Given the description of an element on the screen output the (x, y) to click on. 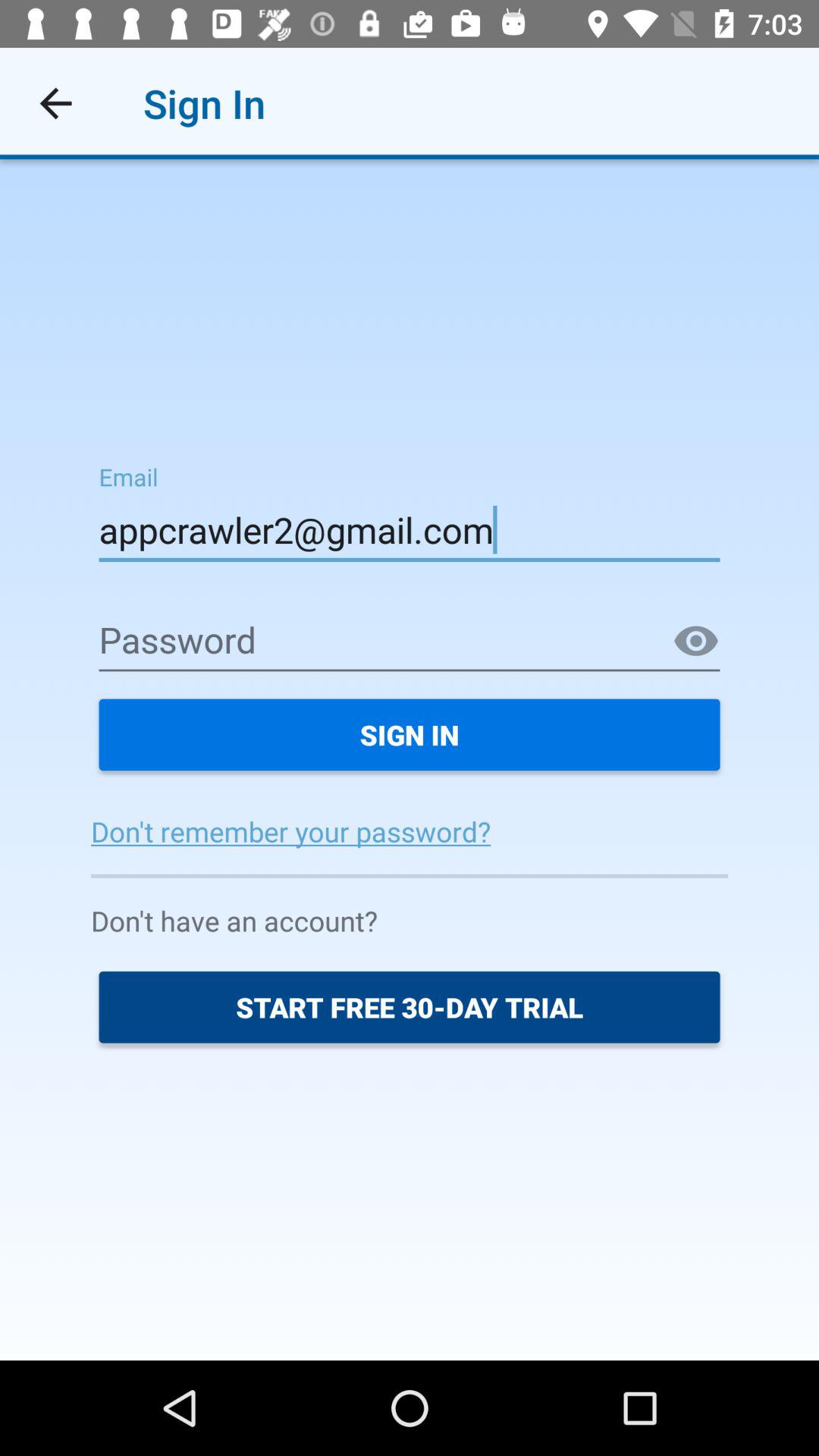
password box (409, 642)
